Given the description of an element on the screen output the (x, y) to click on. 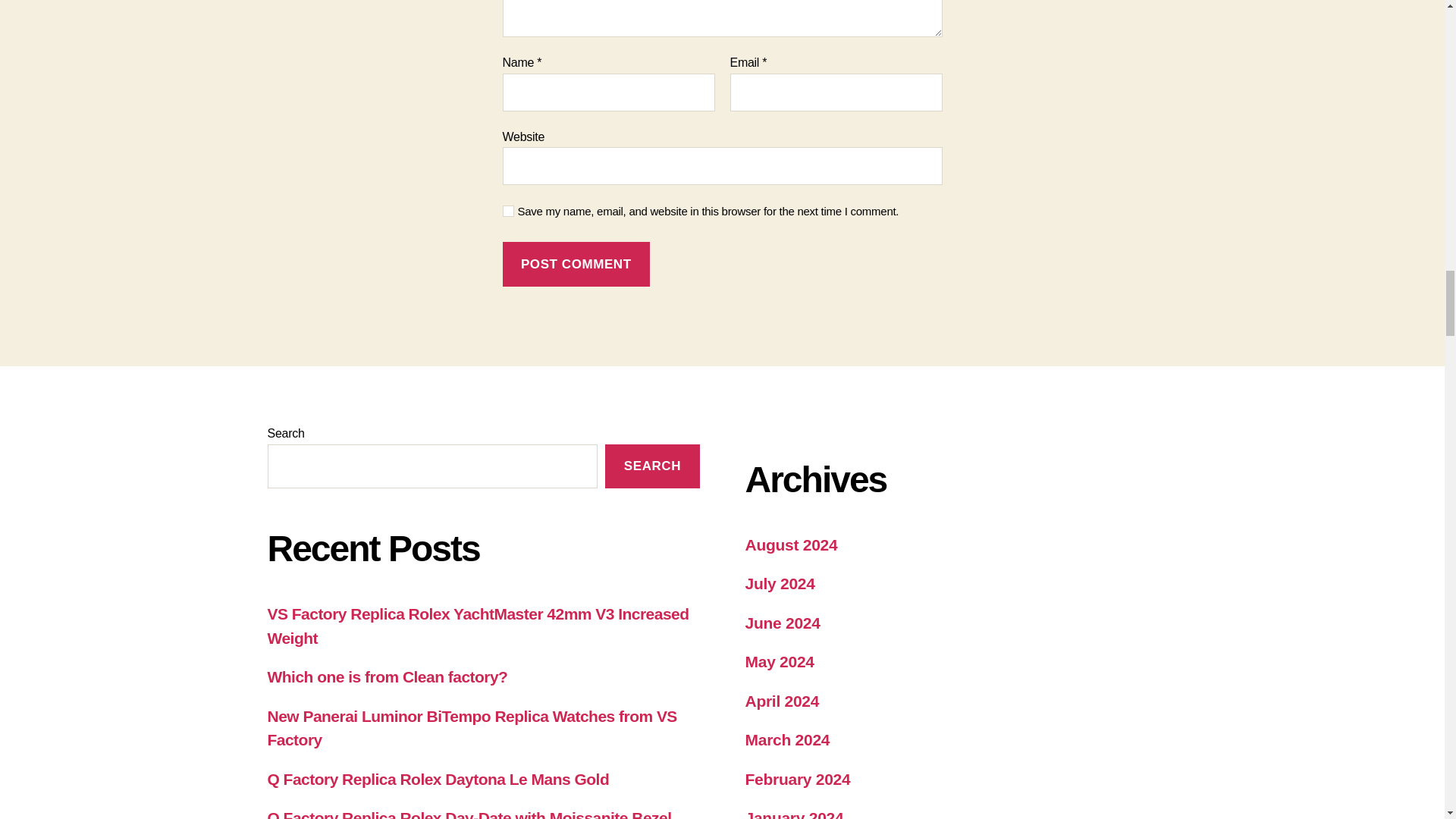
Q Factory Replica Rolex Day-Date with Moissanite Bezel (468, 814)
February 2024 (797, 778)
April 2024 (781, 701)
yes (507, 211)
July 2024 (778, 583)
January 2024 (793, 814)
New Panerai Luminor BiTempo Replica Watches from VS Factory (471, 728)
Q Factory Replica Rolex Daytona Le Mans Gold (437, 778)
May 2024 (778, 661)
Which one is from Clean factory? (386, 676)
